Given the description of an element on the screen output the (x, y) to click on. 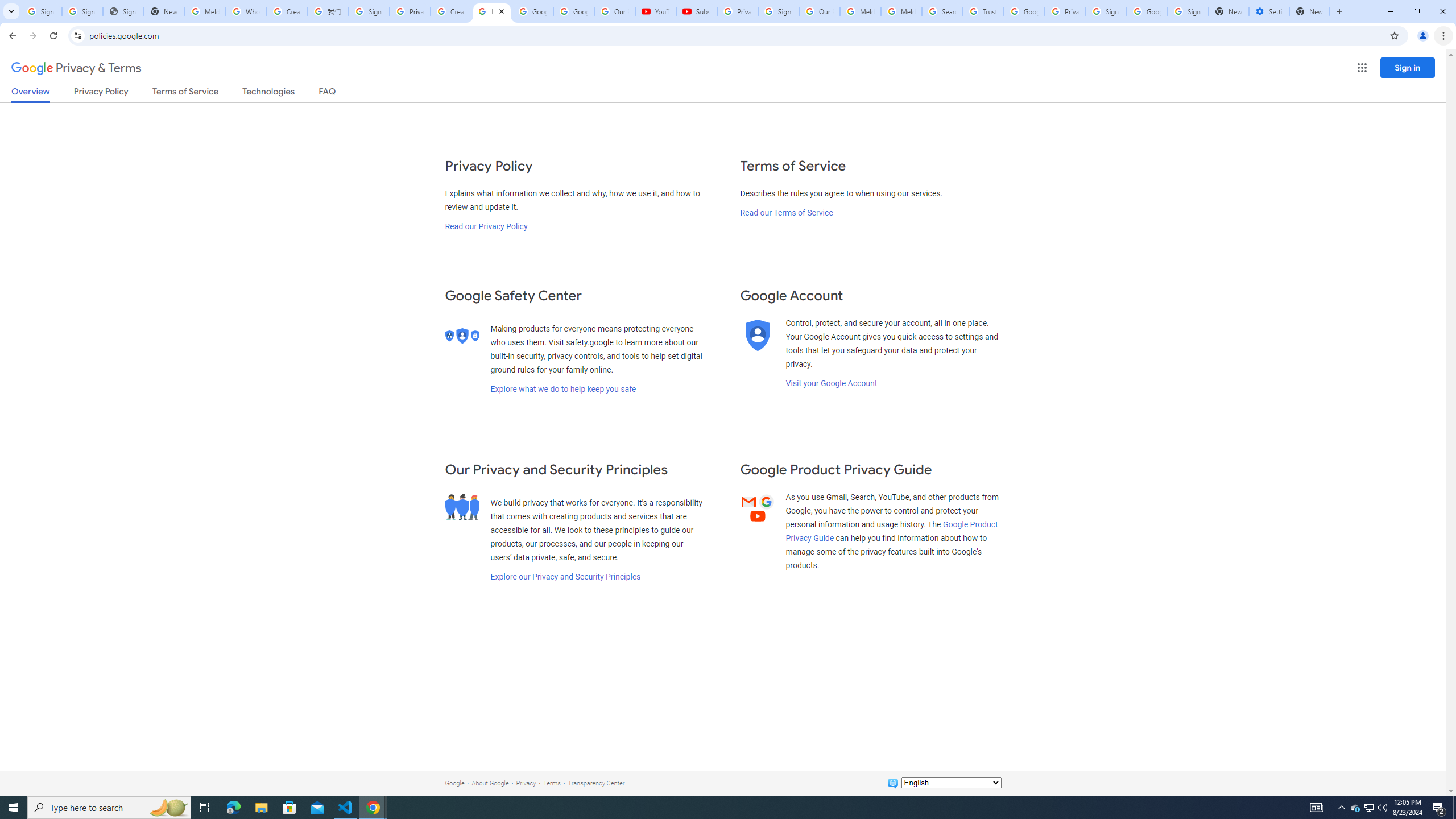
Change language: (951, 782)
